Given the description of an element on the screen output the (x, y) to click on. 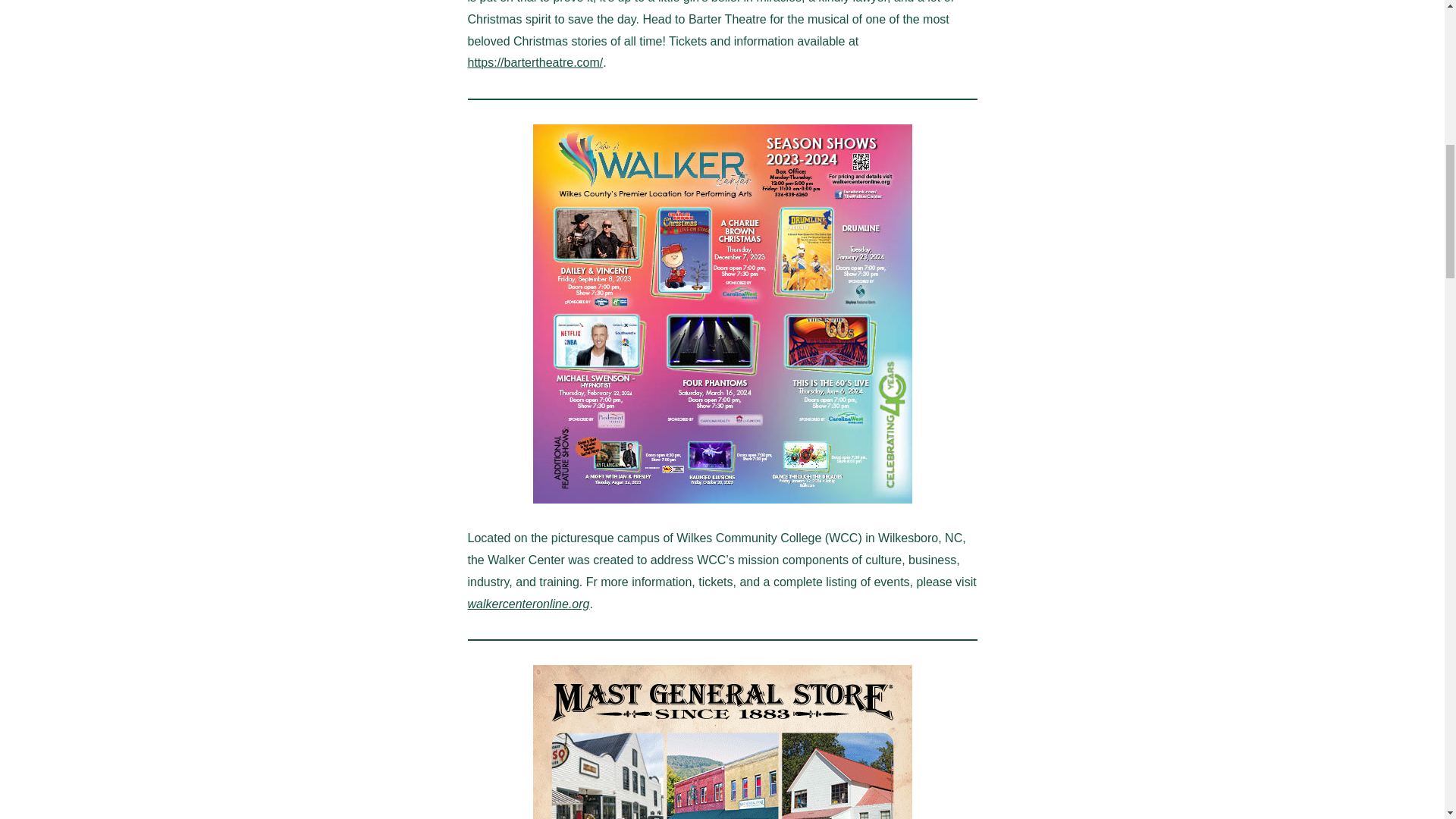
walkercenteronline.org (528, 603)
